Given the description of an element on the screen output the (x, y) to click on. 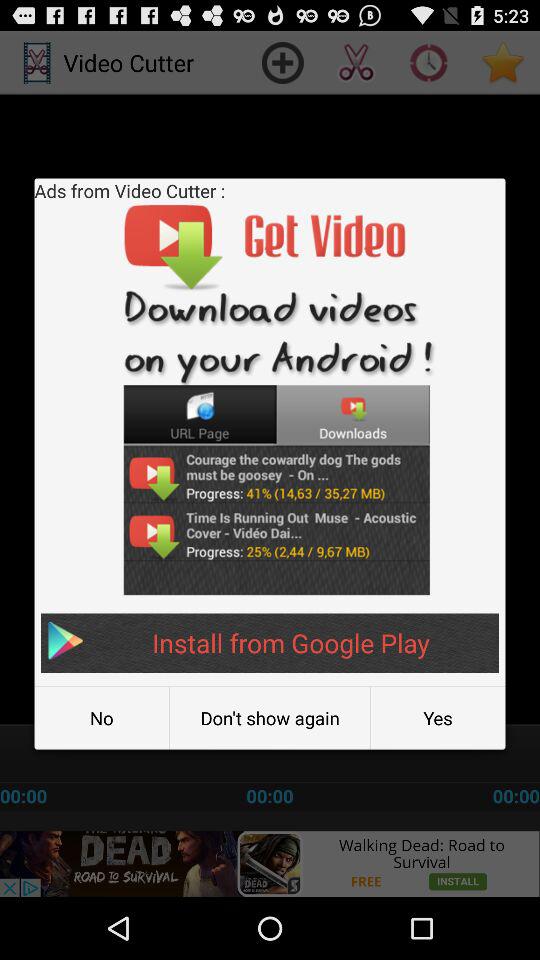
choose the icon above no icon (269, 642)
